Given the description of an element on the screen output the (x, y) to click on. 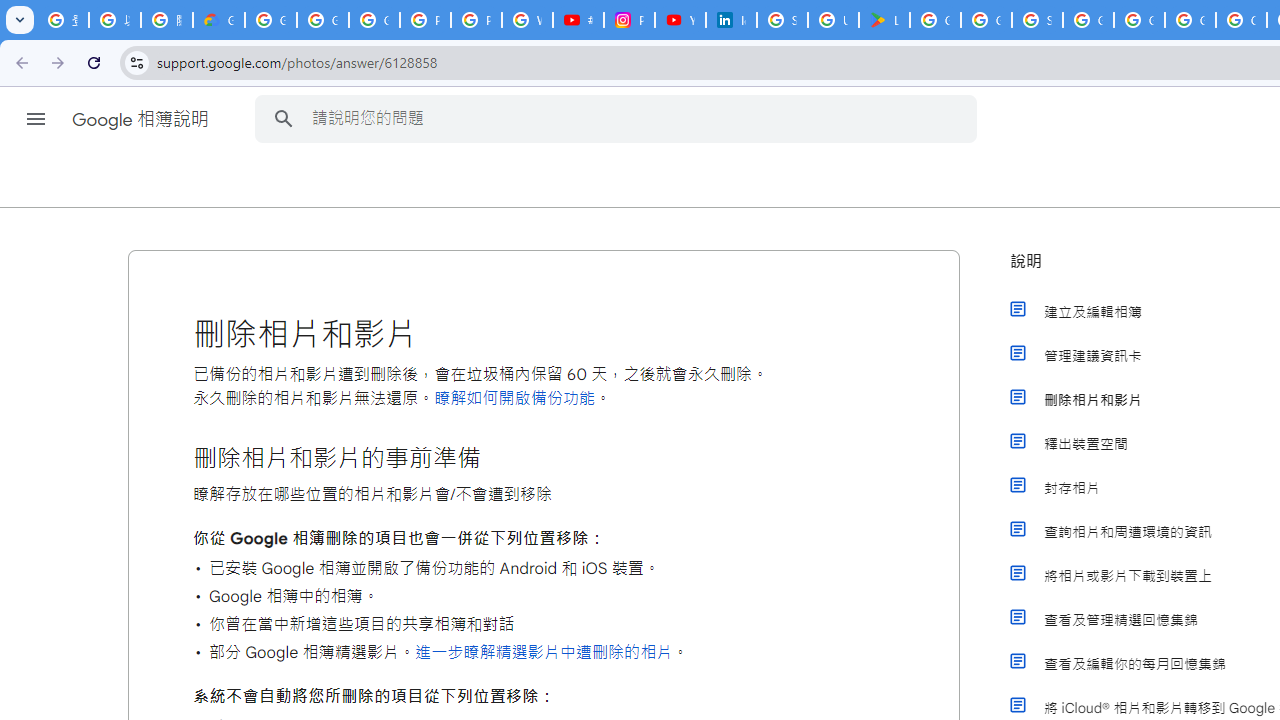
YouTube Culture & Trends - On The Rise: Handcam Videos (680, 20)
#nbabasketballhighlights - YouTube (578, 20)
Google Cloud Platform (1138, 20)
